Given the description of an element on the screen output the (x, y) to click on. 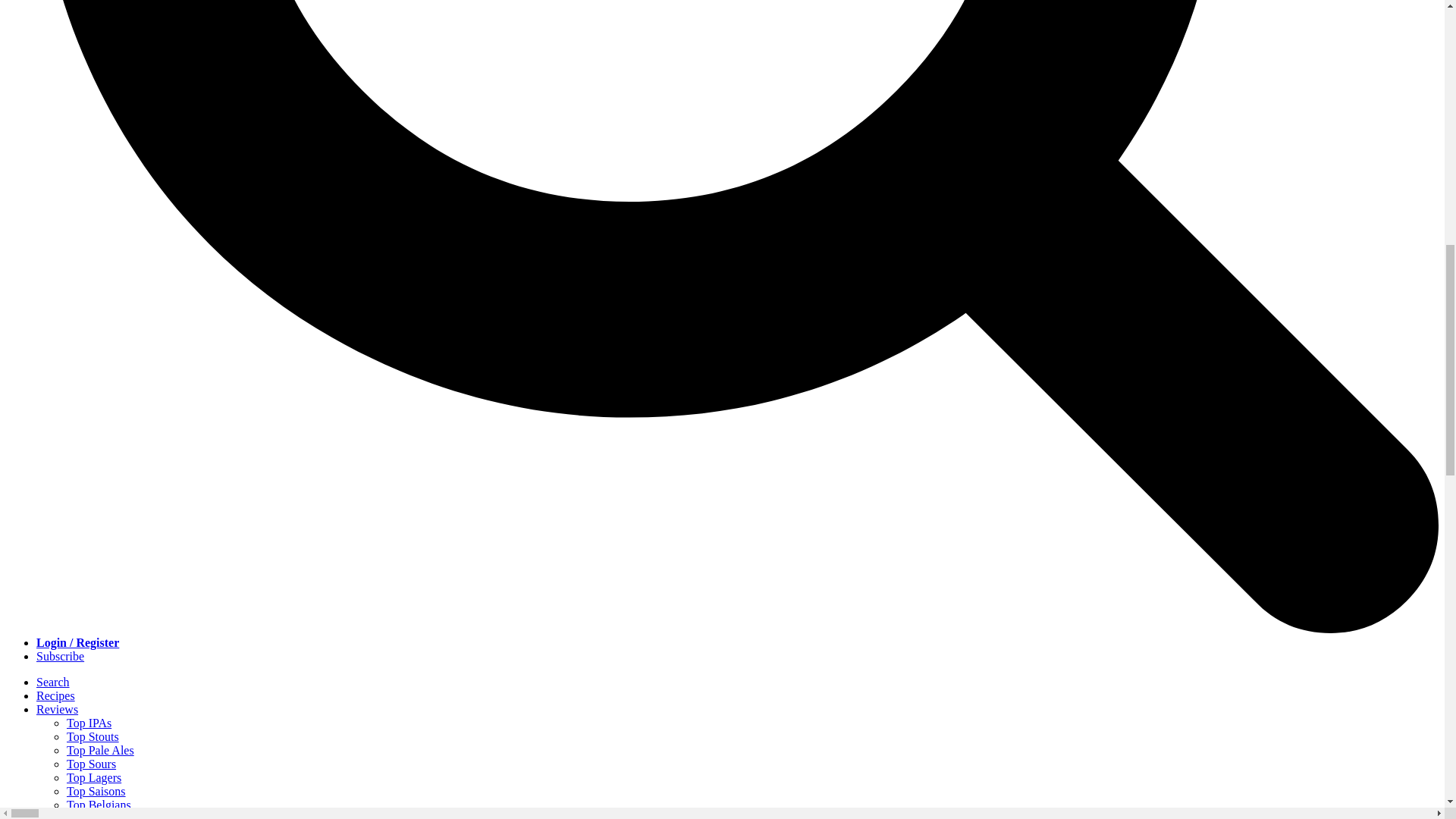
Search (52, 681)
Top Sours (91, 763)
Subscribe (60, 656)
Top Pale Ales (99, 749)
Top Belgians (98, 804)
Top Lagers (93, 777)
Reviews (57, 708)
Top Stouts (92, 736)
Recipes (55, 695)
Top IPAs (89, 722)
